Given the description of an element on the screen output the (x, y) to click on. 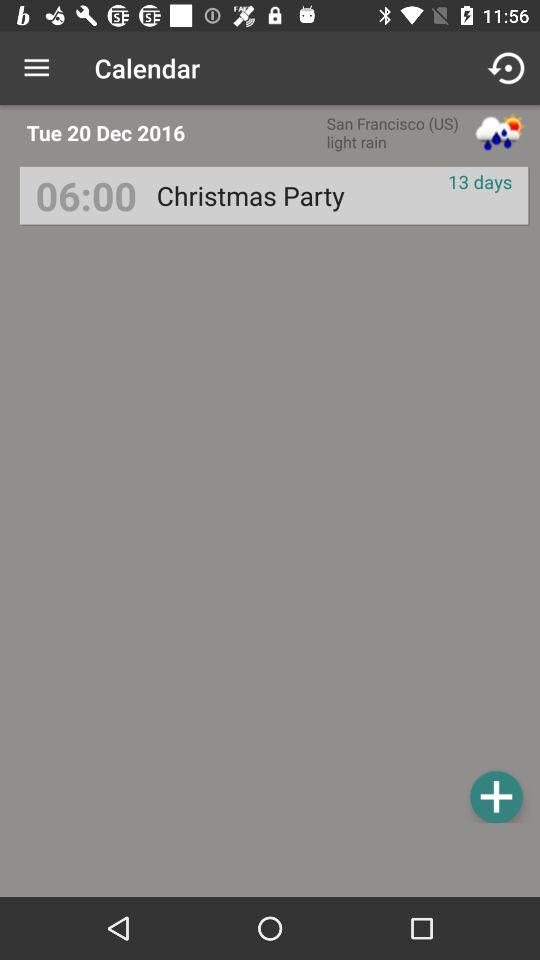
click the icon next to 06:00 icon (250, 195)
